Given the description of an element on the screen output the (x, y) to click on. 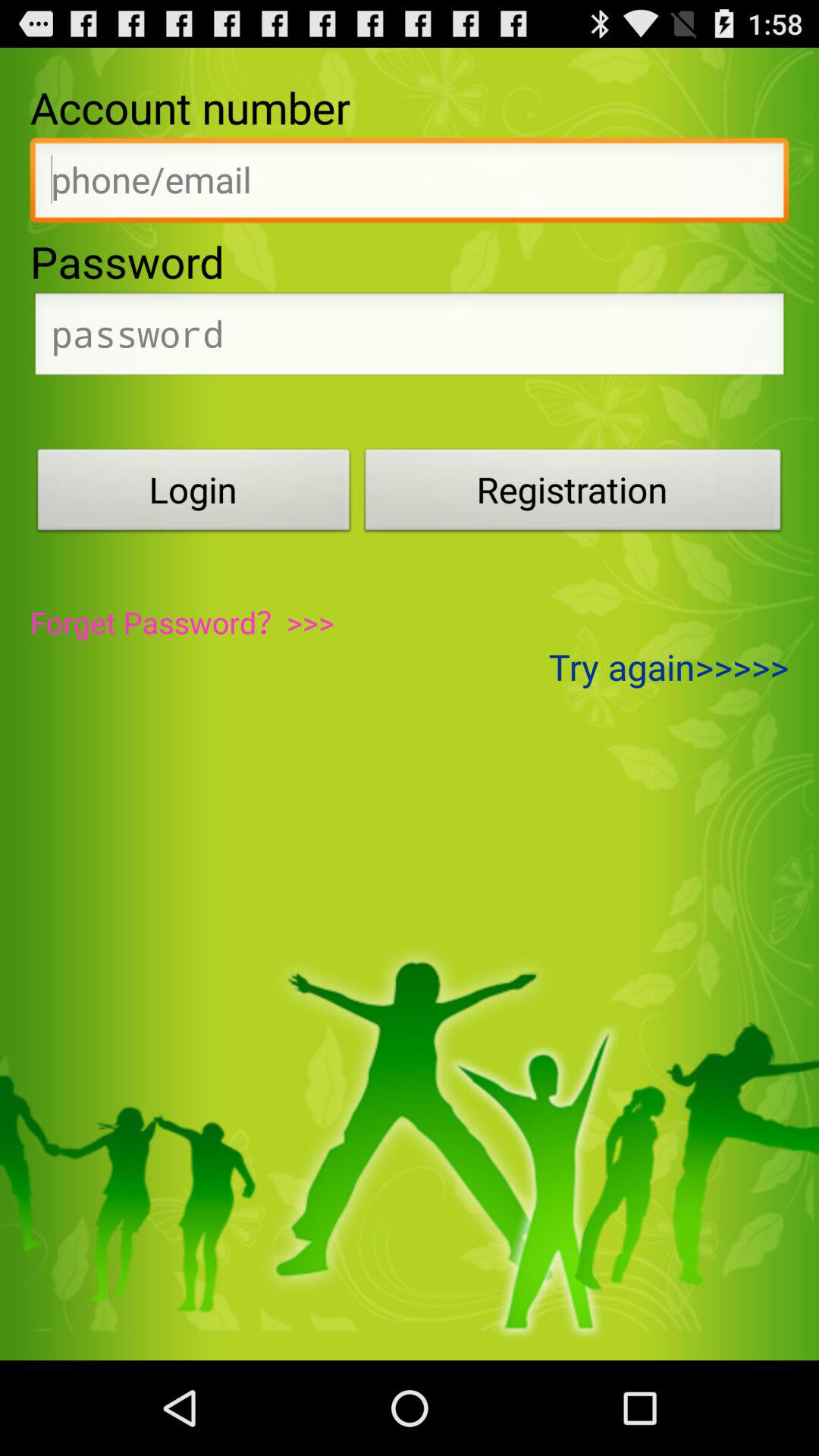
jump to try again>>>>> item (668, 666)
